Given the description of an element on the screen output the (x, y) to click on. 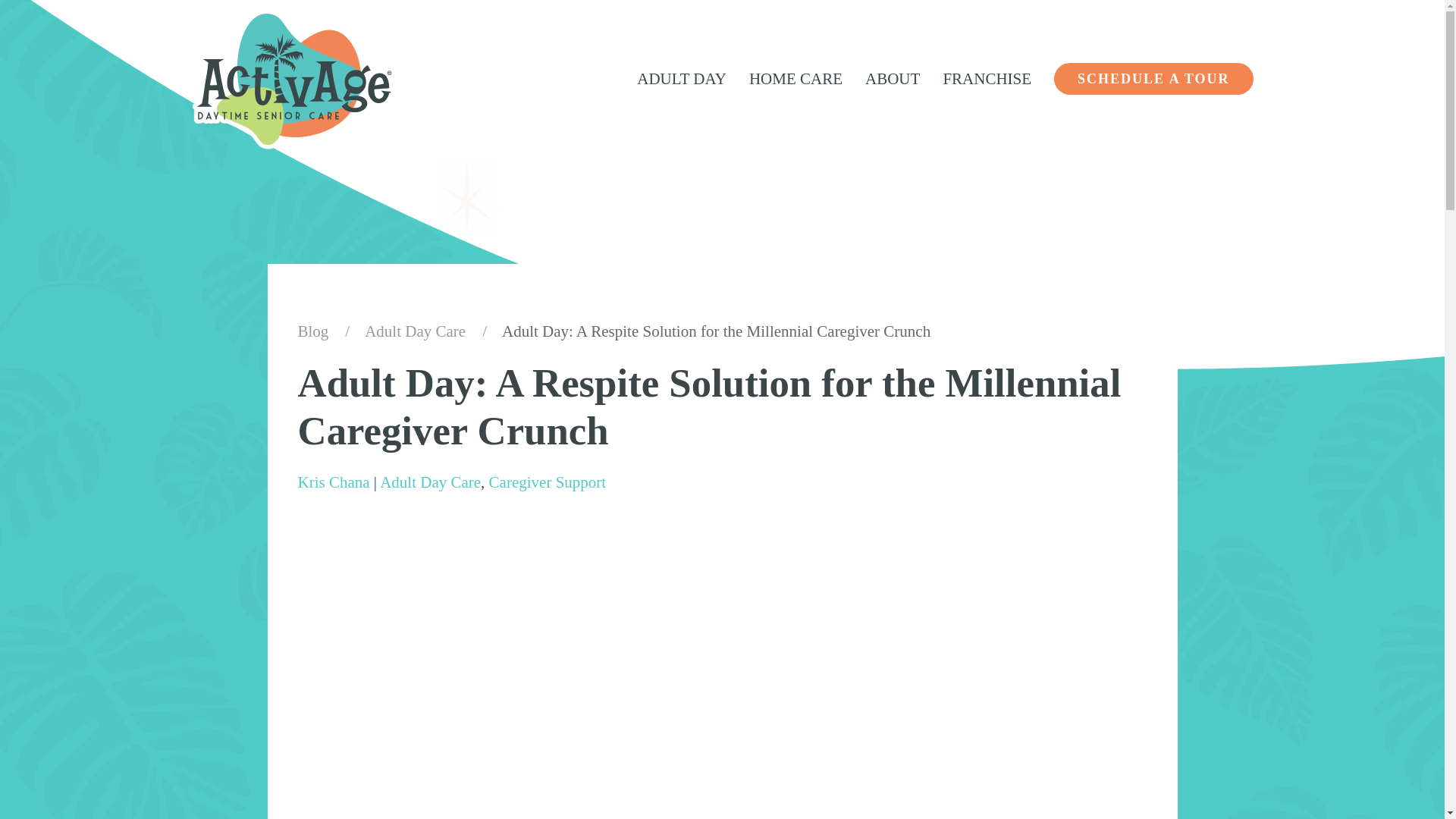
Caregiver Support (548, 482)
SCHEDULE A TOUR (1153, 79)
HOME CARE (795, 78)
ADULT DAY (682, 78)
Adult Day Care (430, 482)
Blog (313, 331)
ABOUT (892, 78)
Kris Chana (333, 482)
Adult Day Care (415, 331)
FRANCHISE (986, 78)
